Given the description of an element on the screen output the (x, y) to click on. 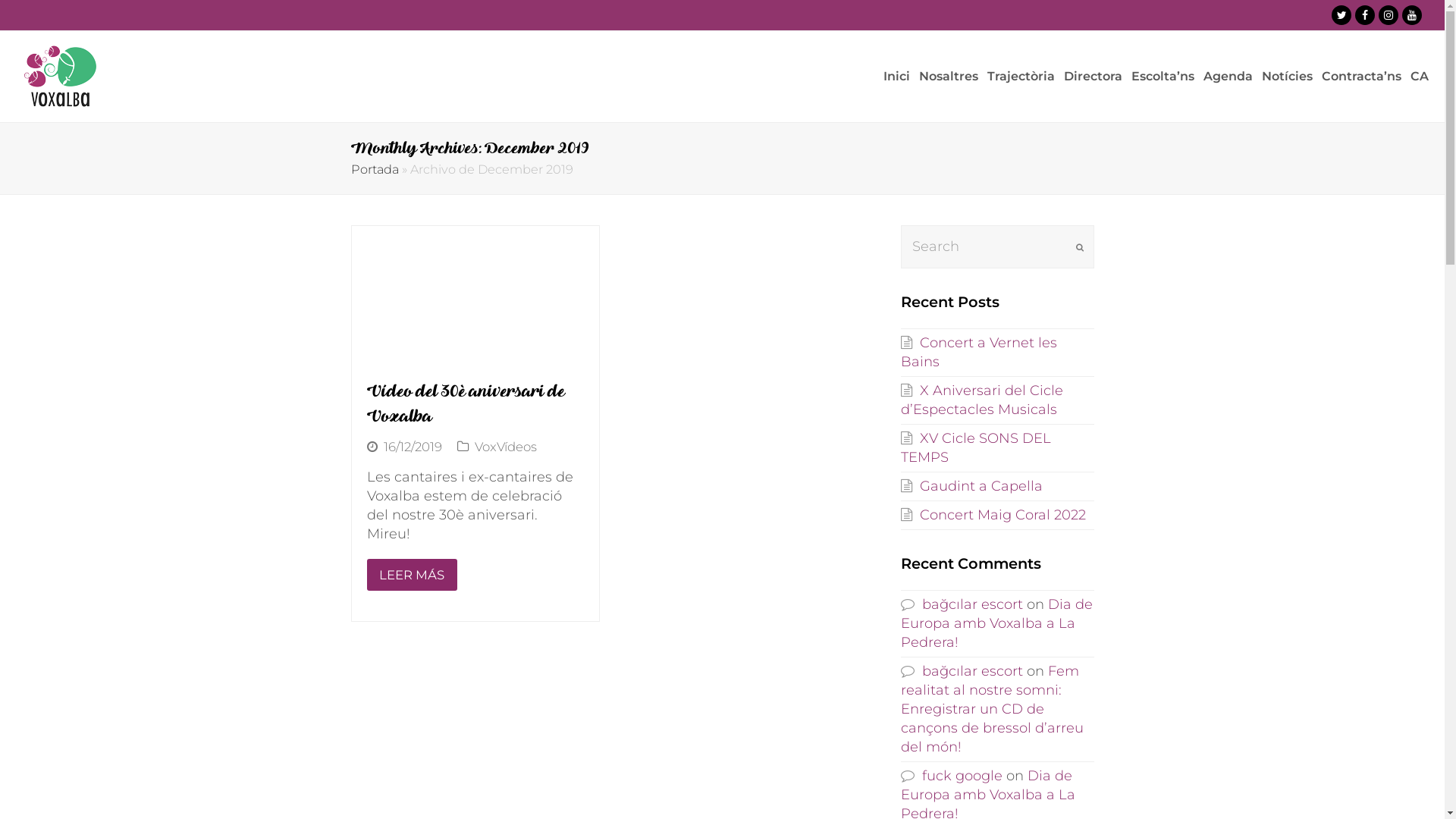
Concert a Vernet les Bains Element type: text (978, 352)
Dia de Europa amb Voxalba a La Pedrera! Element type: text (996, 623)
Agenda Element type: text (1227, 76)
Submit Element type: text (1078, 246)
Facebook Profile Element type: text (1364, 15)
Directora Element type: text (1092, 76)
Concert Maig Coral 2022 Element type: text (992, 514)
Twitter Profile Element type: text (1341, 15)
XV Cicle SONS DEL TEMPS Element type: text (975, 447)
VOXALBA Element type: hover (60, 75)
Youtube Profile Element type: text (1411, 15)
Gaudint a Capella Element type: text (971, 485)
Nosaltres Element type: text (948, 76)
fuck google Element type: text (951, 775)
Instagram Profile Element type: text (1388, 15)
Portada Element type: text (374, 168)
CA Element type: text (1419, 76)
Inici Element type: text (896, 76)
